Given the description of an element on the screen output the (x, y) to click on. 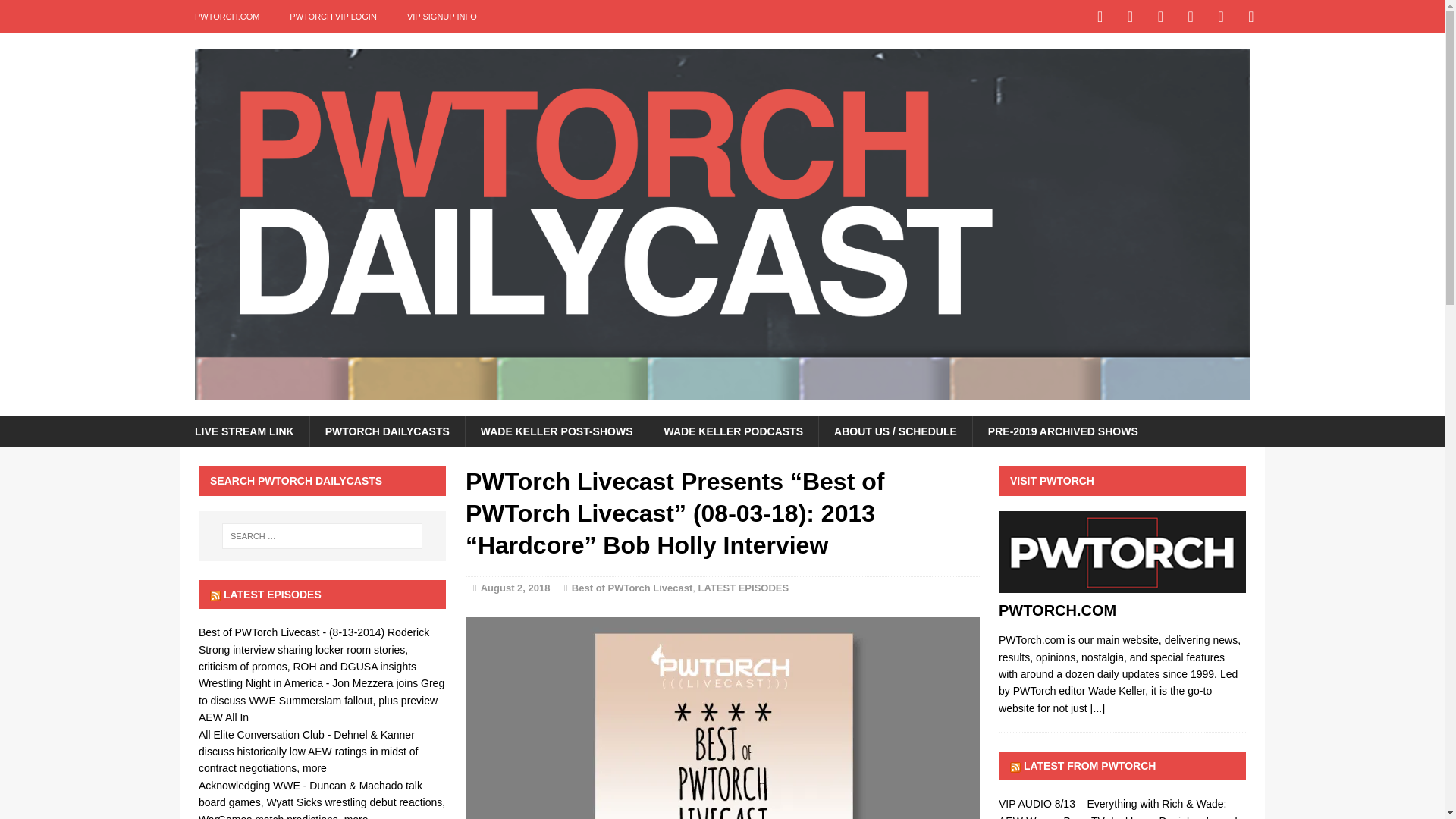
PWTORCH.COM (1122, 584)
WADE KELLER POST-SHOWS (555, 431)
VIP SIGNUP INFO (441, 16)
LIVE STREAM LINK (243, 431)
PWTORCH.COM (1057, 610)
PWTORCH.COM (1097, 707)
LivecastBestOf2 (722, 717)
PWTORCH.COM (227, 16)
WADE KELLER PODCASTS (732, 431)
